Given the description of an element on the screen output the (x, y) to click on. 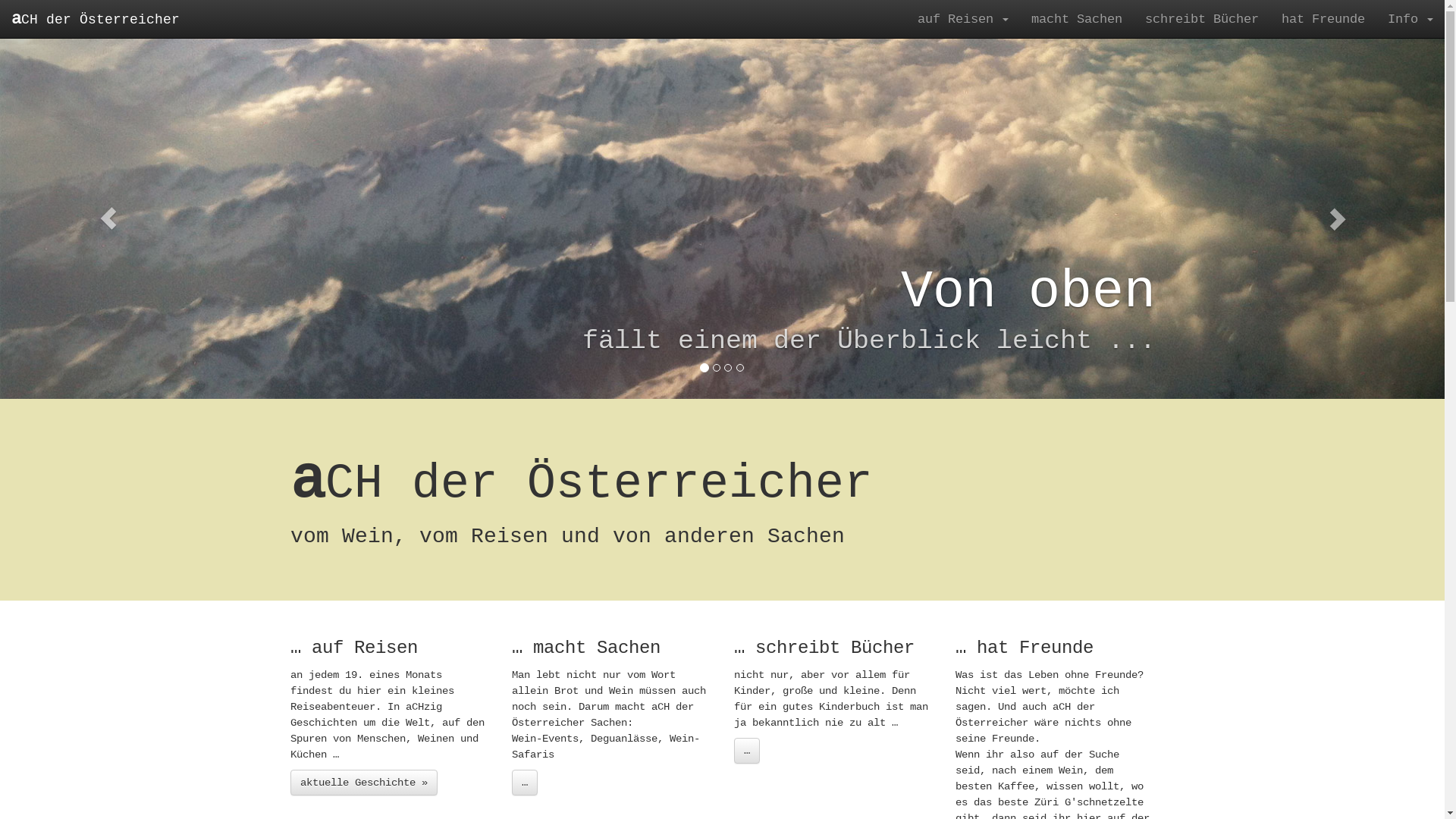
macht Sachen Element type: text (1076, 18)
Info Element type: text (1410, 18)
hat Freunde Element type: text (1323, 18)
auf Reisen Element type: text (962, 18)
